Given the description of an element on the screen output the (x, y) to click on. 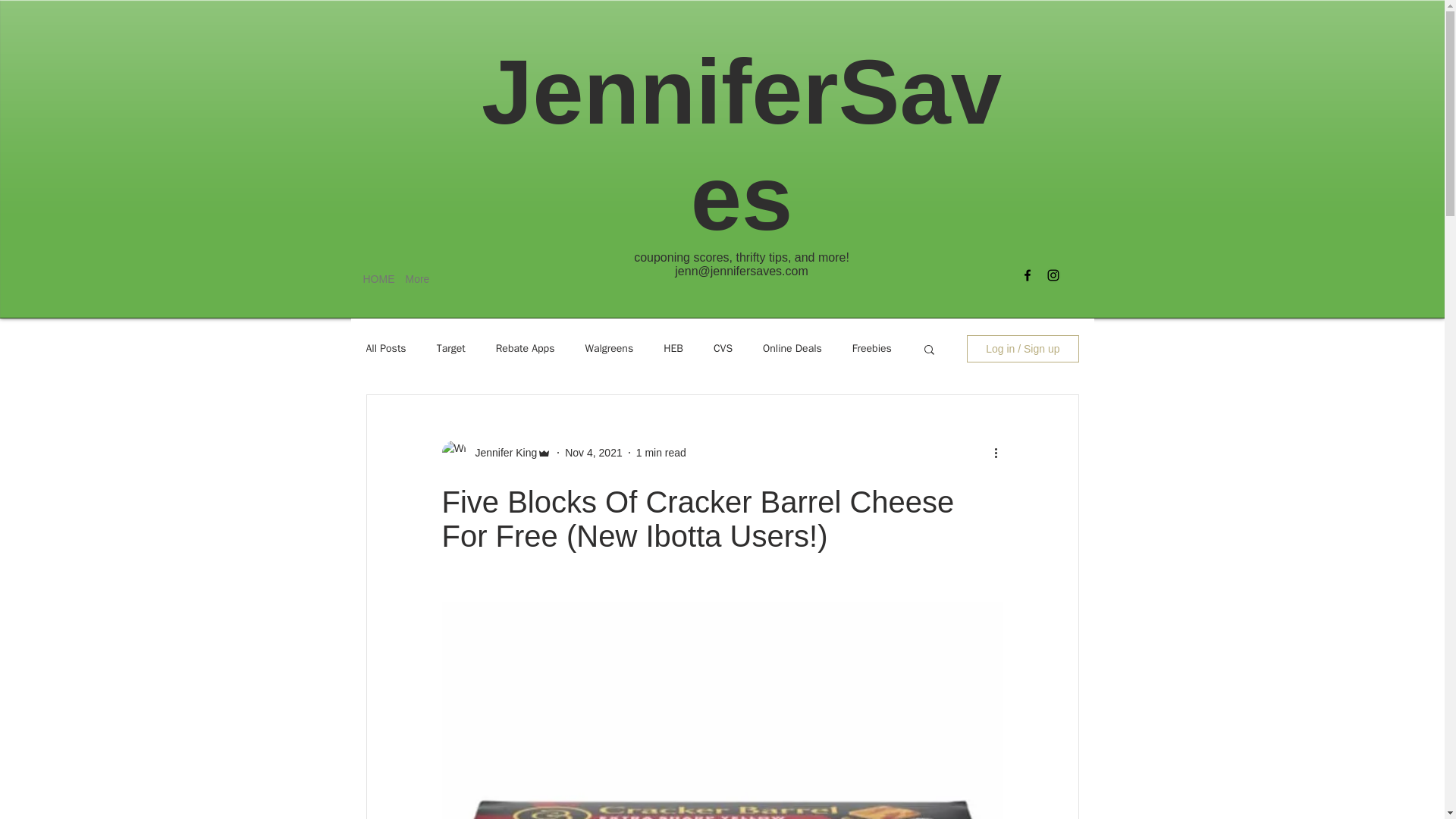
Online Deals (792, 348)
Jennifer King (501, 452)
Nov 4, 2021 (593, 451)
Target (450, 348)
HOME (373, 279)
JenniferSaves (741, 144)
CVS (722, 348)
1 min read (660, 451)
Rebate Apps (525, 348)
Walgreens (609, 348)
HEB (672, 348)
All Posts (385, 348)
Freebies (871, 348)
